Given the description of an element on the screen output the (x, y) to click on. 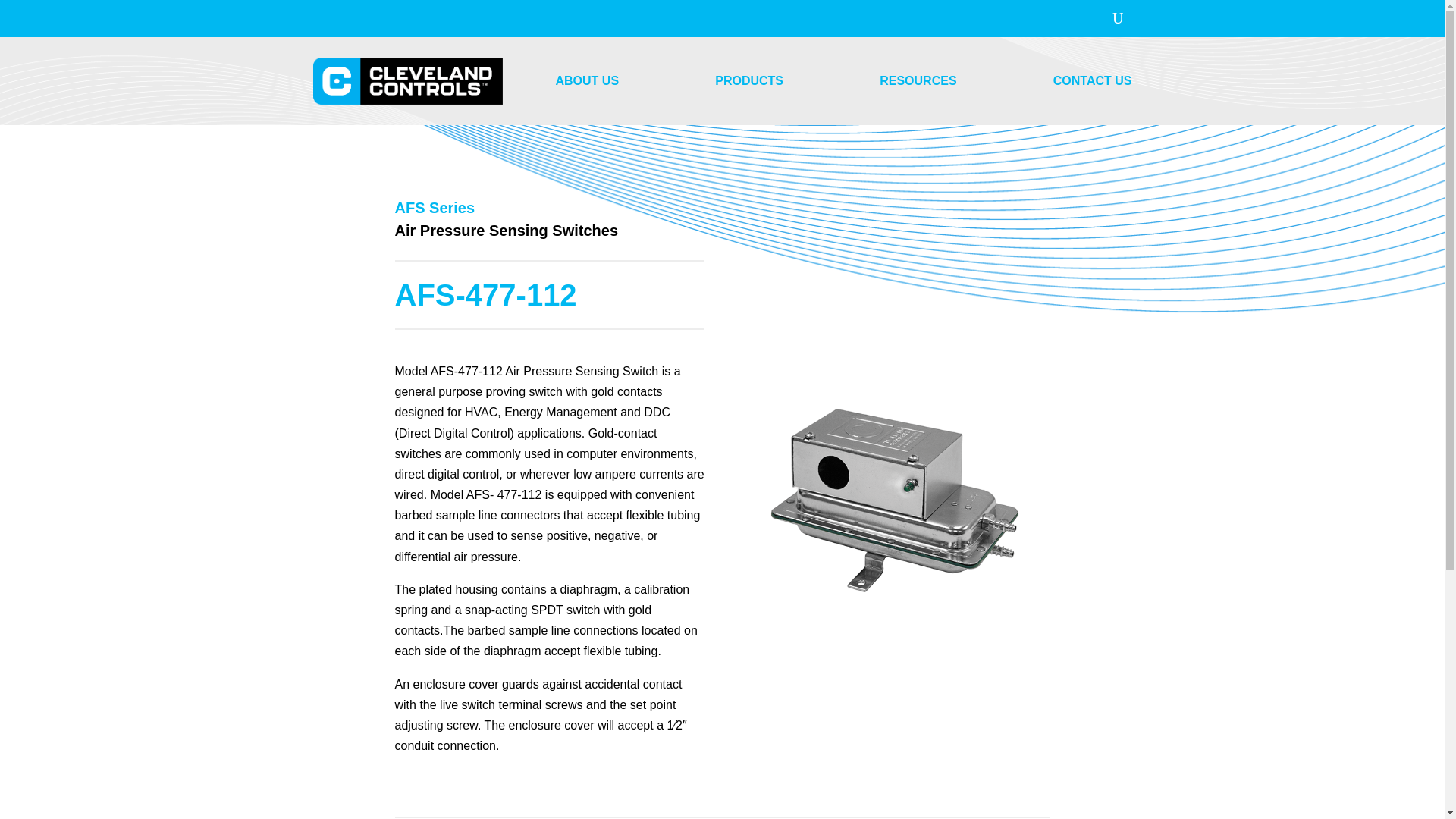
RESOURCES (917, 80)
PRODUCTS (748, 80)
CONTACT US (1092, 80)
ABOUT US (586, 80)
